Given the description of an element on the screen output the (x, y) to click on. 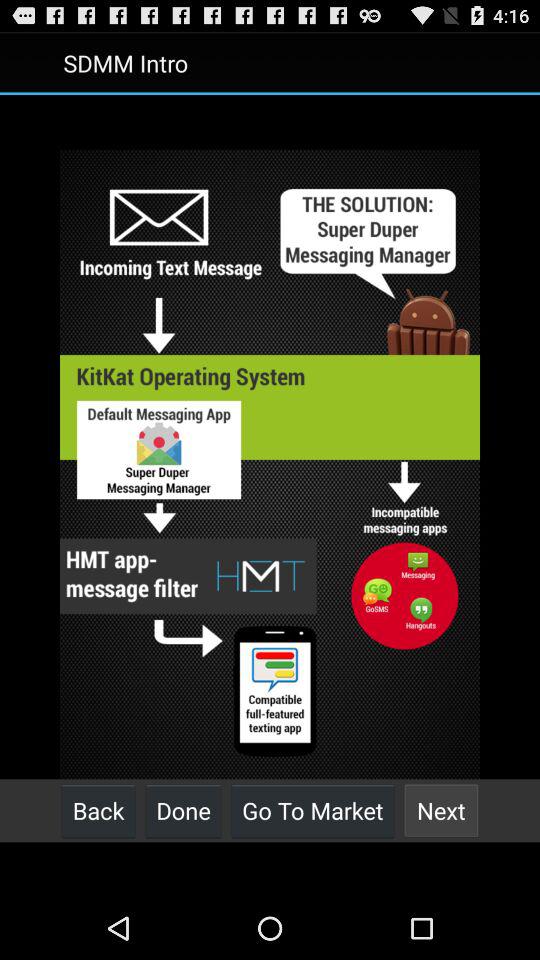
turn on the icon to the left of the next button (312, 810)
